Given the description of an element on the screen output the (x, y) to click on. 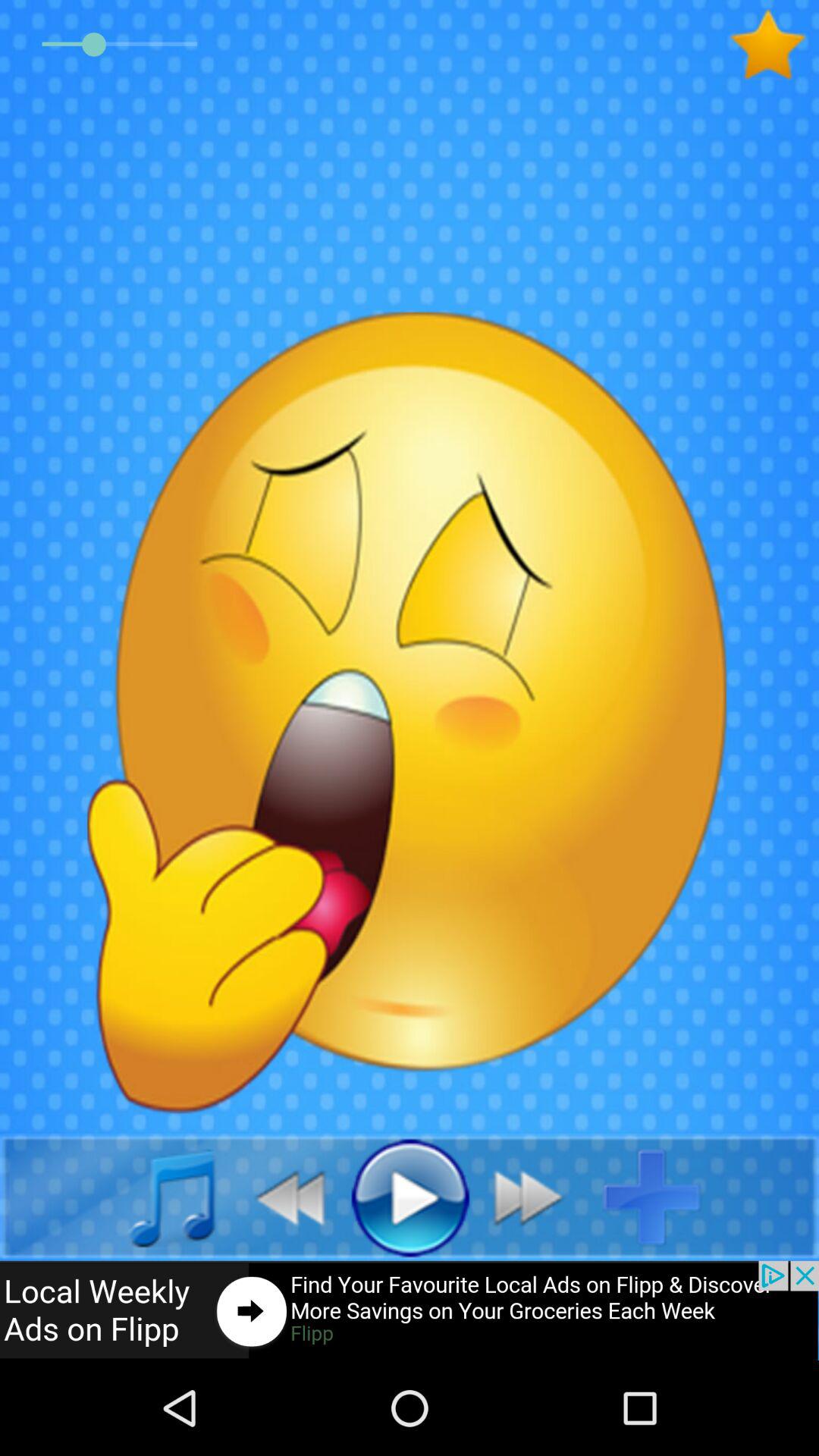
playmove (536, 1196)
